Given the description of an element on the screen output the (x, y) to click on. 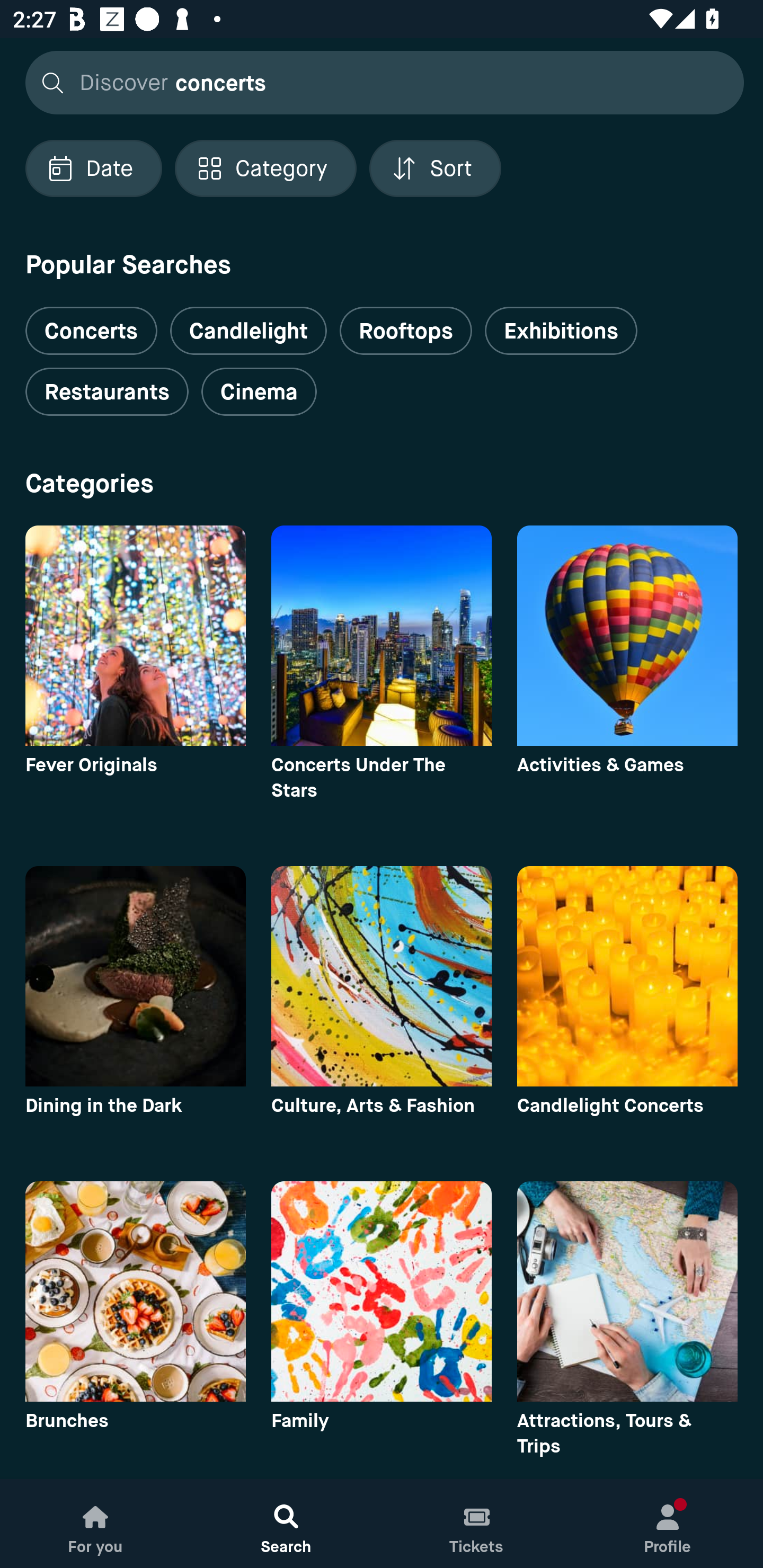
Discover concerts (379, 81)
Localized description Date (93, 168)
Localized description Category (265, 168)
Localized description Sort (435, 168)
Concerts (91, 323)
Candlelight (248, 330)
Rooftops (405, 330)
Exhibitions (560, 330)
Restaurants (106, 391)
Cinema (258, 391)
category image (135, 635)
category image (381, 635)
category image (627, 635)
category image (135, 975)
category image (381, 975)
category image (627, 975)
category image (135, 1290)
category image (381, 1290)
category image (627, 1290)
For you (95, 1523)
Tickets (476, 1523)
Profile, New notification Profile (667, 1523)
